Given the description of an element on the screen output the (x, y) to click on. 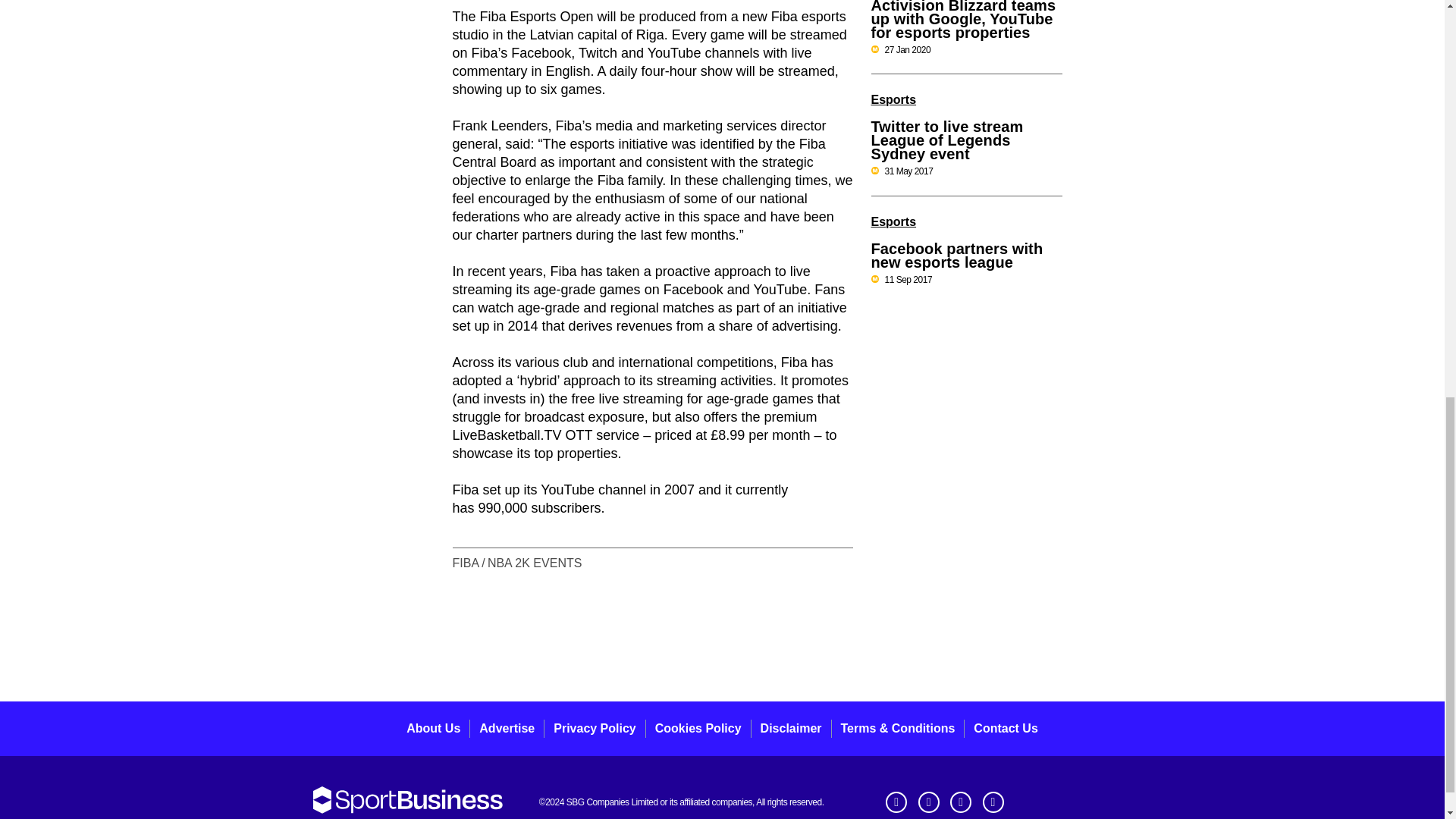
About Us (433, 727)
NBA 2K EVENTS (534, 563)
Advertise (506, 727)
FIBA (466, 563)
Esports (892, 221)
Facebook partners with new esports league (956, 255)
Twitter to live stream League of Legends Sydney event (946, 139)
Esports (892, 99)
